Given the description of an element on the screen output the (x, y) to click on. 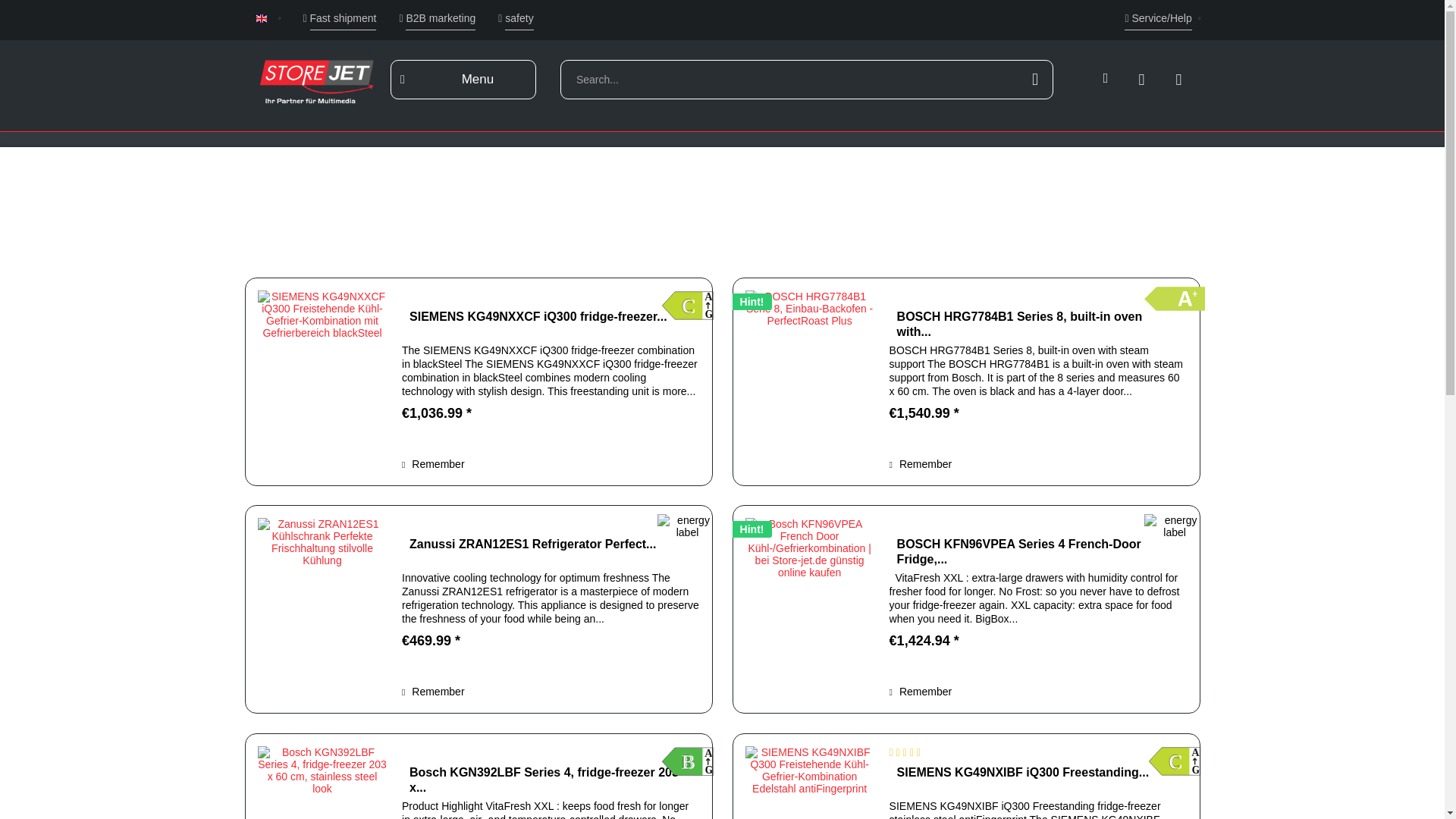
Menu (462, 79)
B2B marketing (437, 18)
Shopping cart (1191, 79)
